Given the description of an element on the screen output the (x, y) to click on. 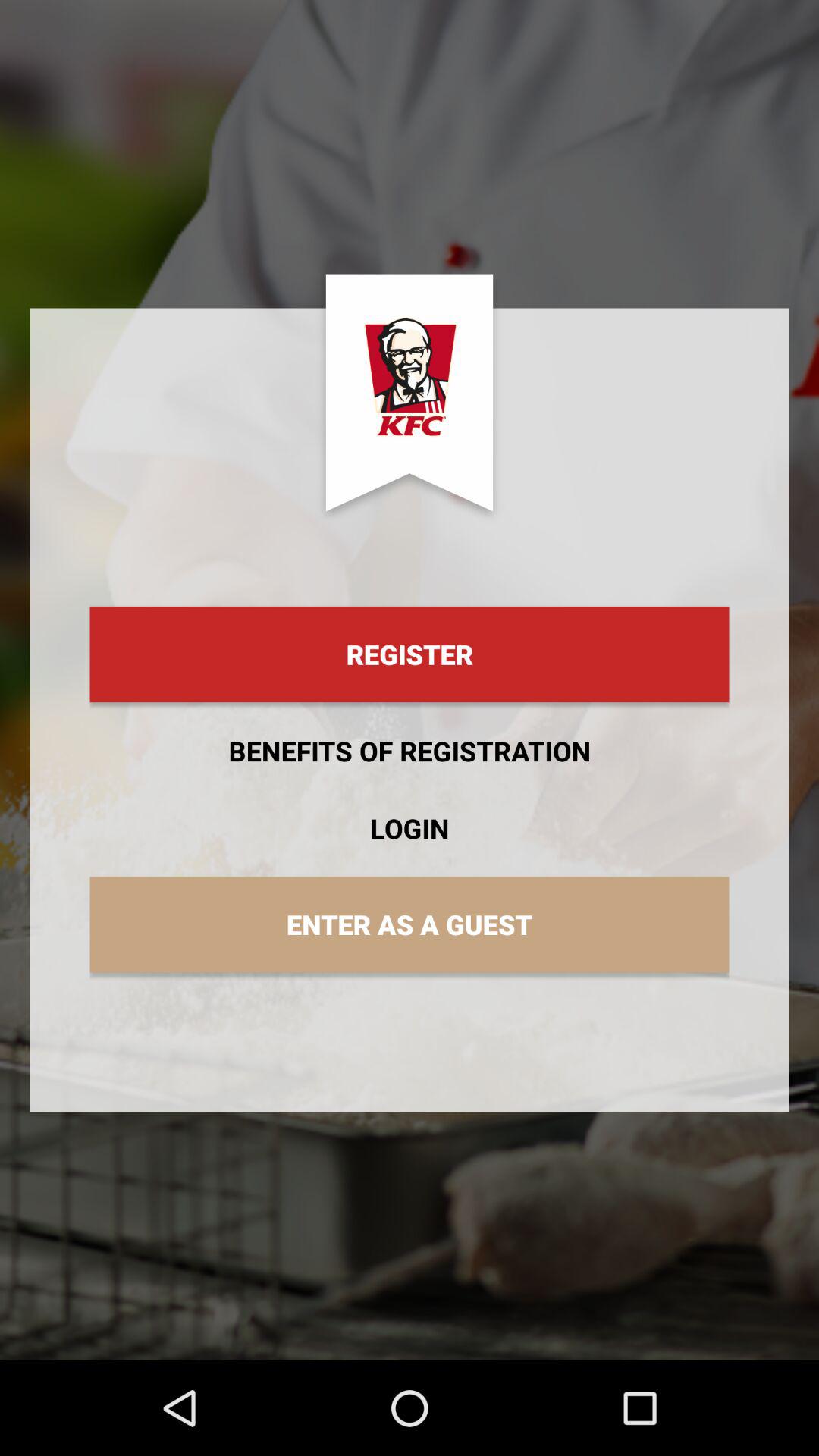
open register (409, 654)
